Given the description of an element on the screen output the (x, y) to click on. 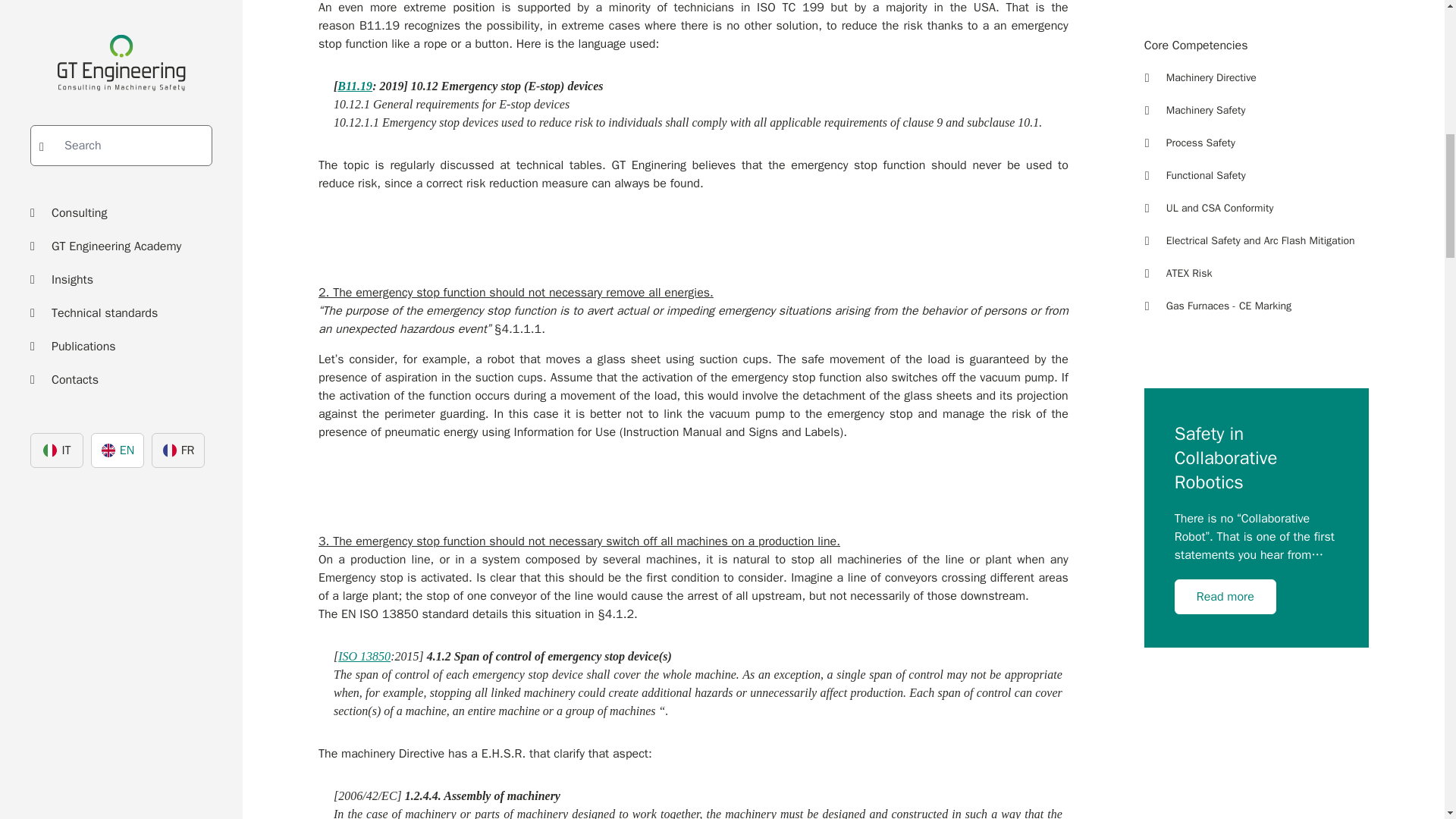
ISO 13850 (363, 656)
B11.19 (354, 85)
